Given the description of an element on the screen output the (x, y) to click on. 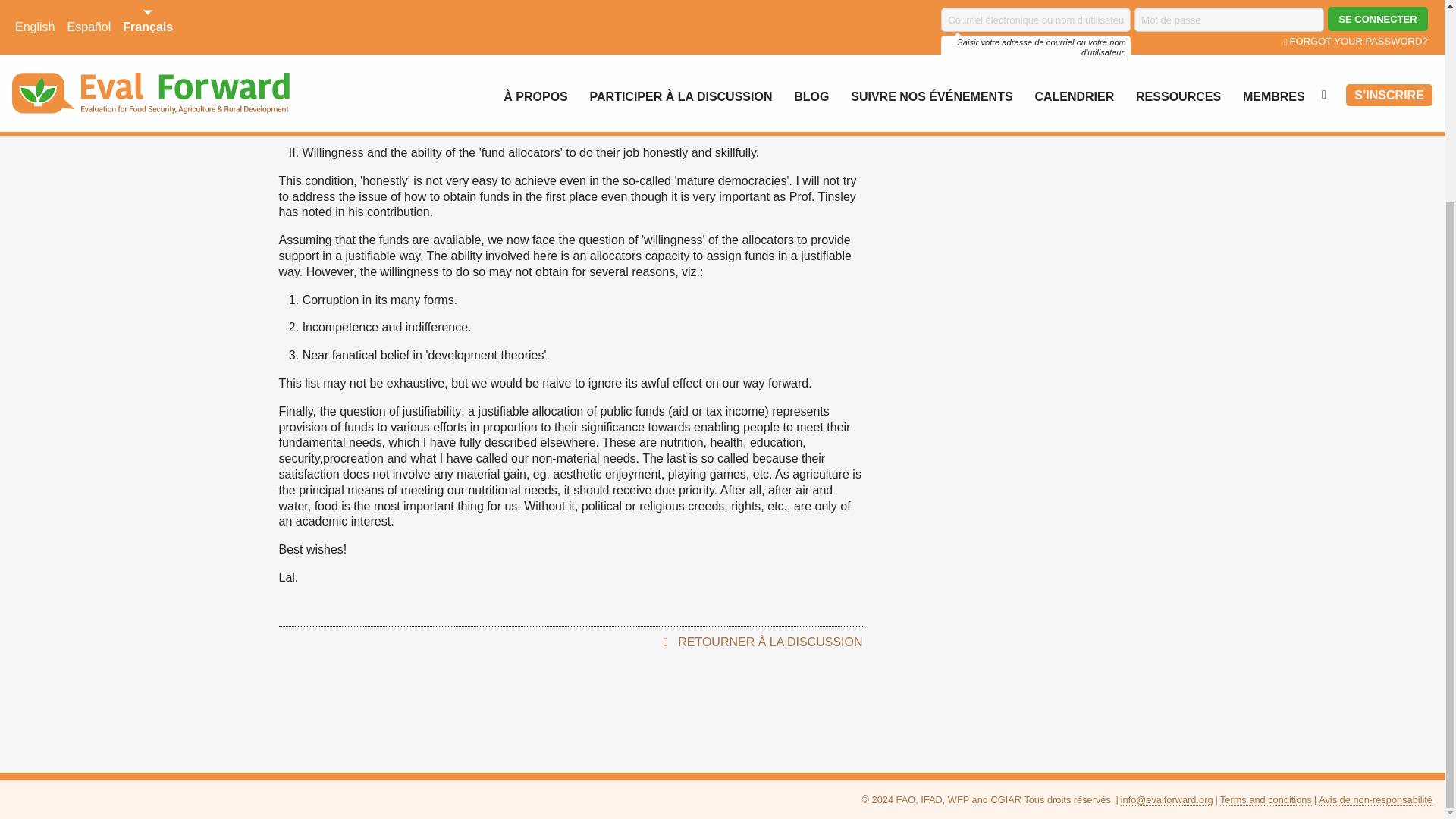
Terms and conditions (1265, 799)
